Given the description of an element on the screen output the (x, y) to click on. 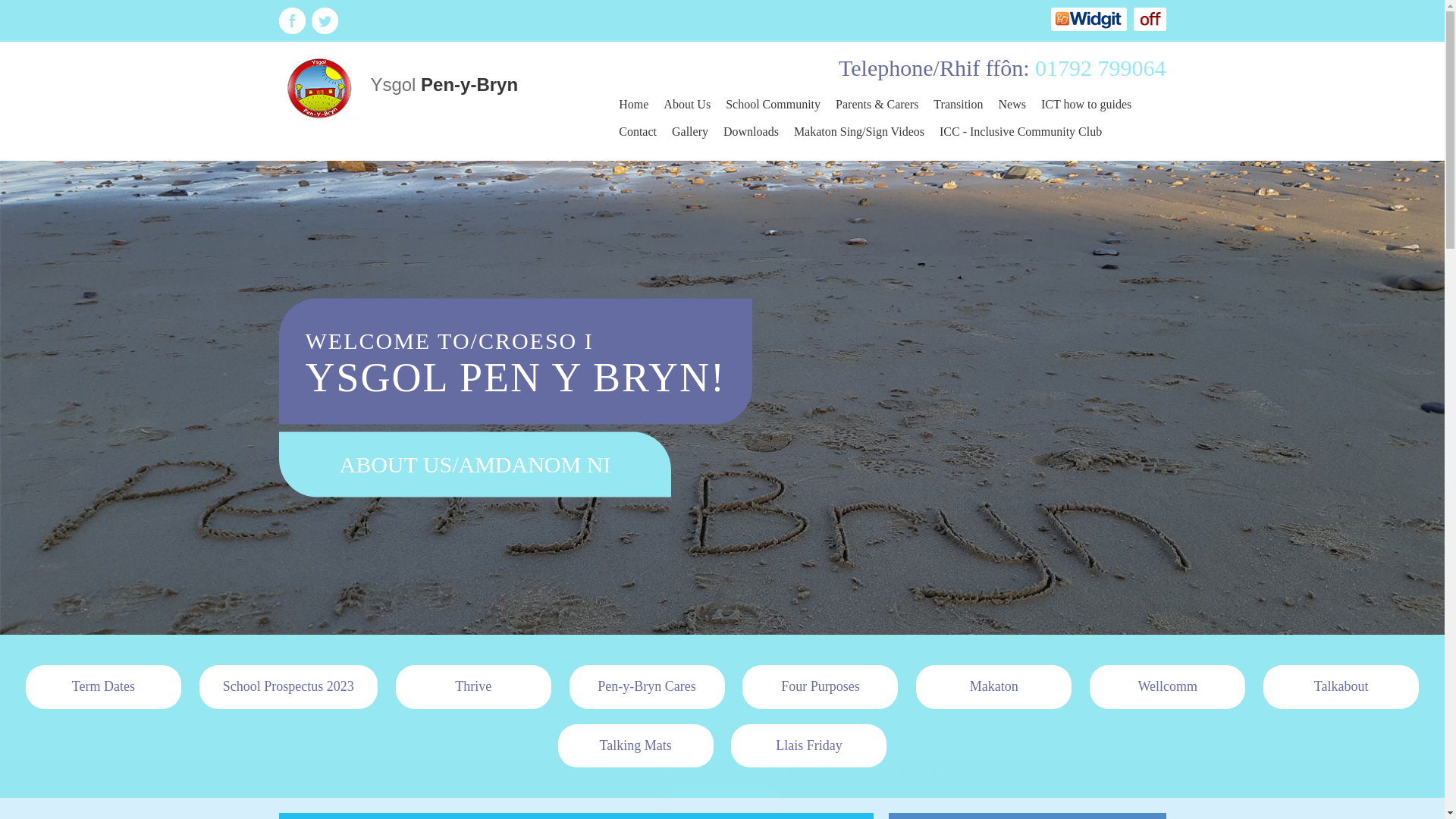
School Community (772, 103)
About Us (686, 103)
Home (633, 103)
Toggle Point Symbols (1149, 19)
Ysgol Pen-y-Bryn (398, 87)
Accept and Continue (721, 798)
